Given the description of an element on the screen output the (x, y) to click on. 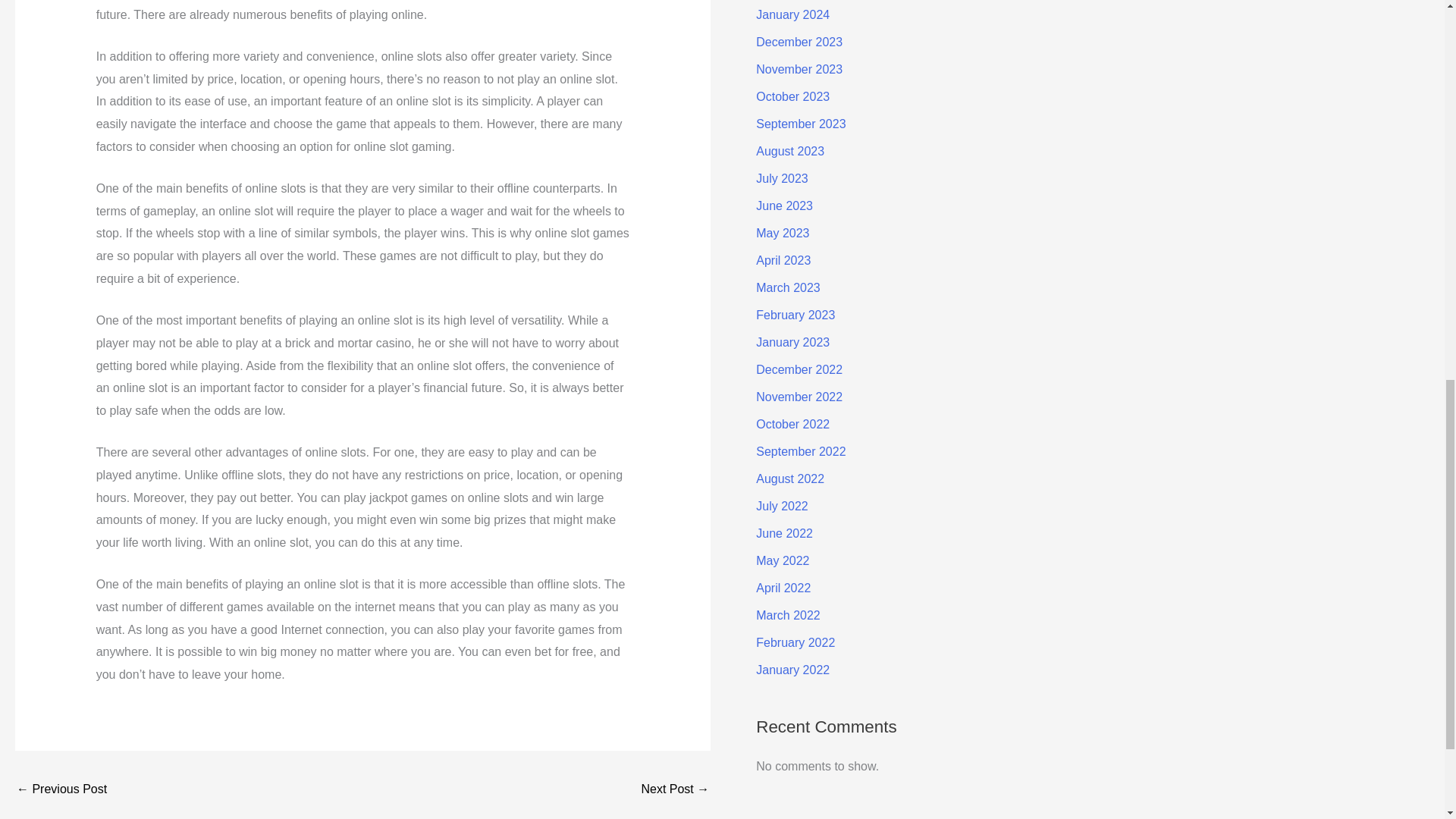
November 2023 (799, 69)
How to Find the Best Places to Play Online (61, 790)
May 2023 (782, 232)
June 2023 (783, 205)
September 2023 (800, 123)
November 2022 (799, 396)
January 2023 (792, 341)
December 2023 (799, 42)
January 2024 (792, 14)
How to Play an Online Lottery (674, 790)
October 2023 (792, 96)
July 2023 (781, 178)
October 2022 (792, 423)
April 2023 (782, 259)
March 2023 (788, 287)
